Given the description of an element on the screen output the (x, y) to click on. 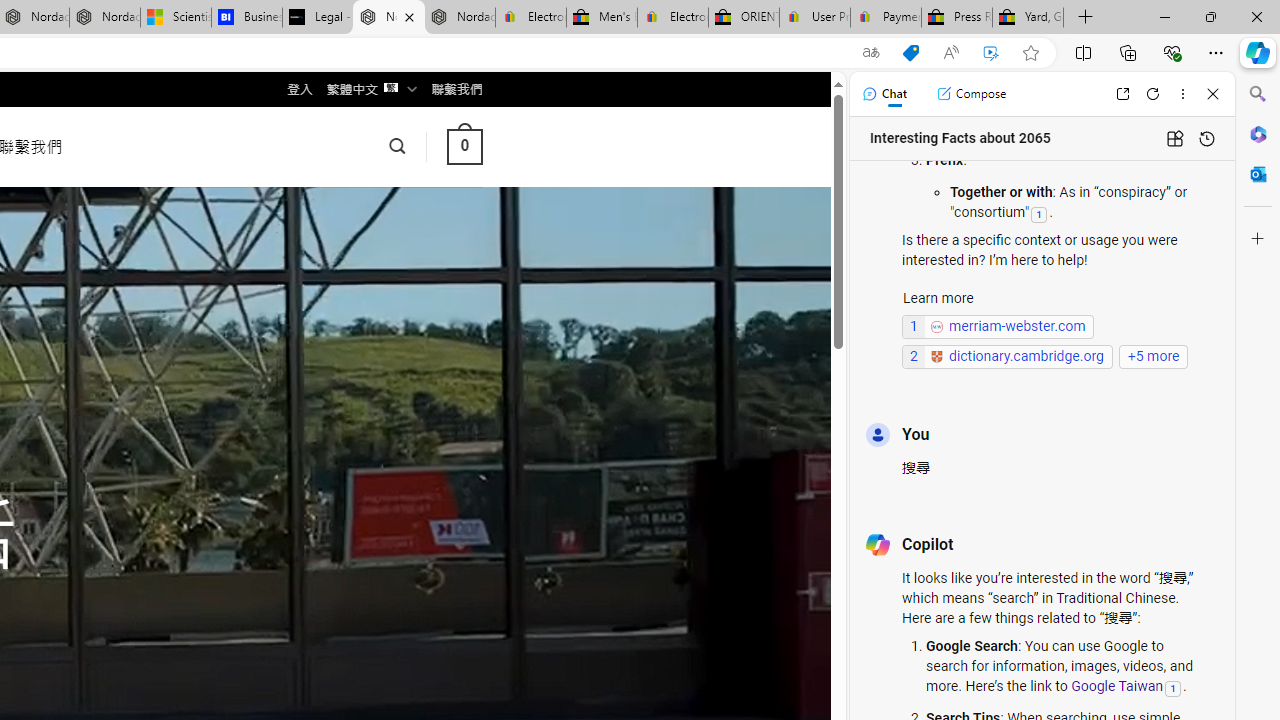
Minimize Search pane (1258, 94)
Enhance video (991, 53)
Payments Terms of Use | eBay.com (886, 17)
 0  (464, 146)
